Given the description of an element on the screen output the (x, y) to click on. 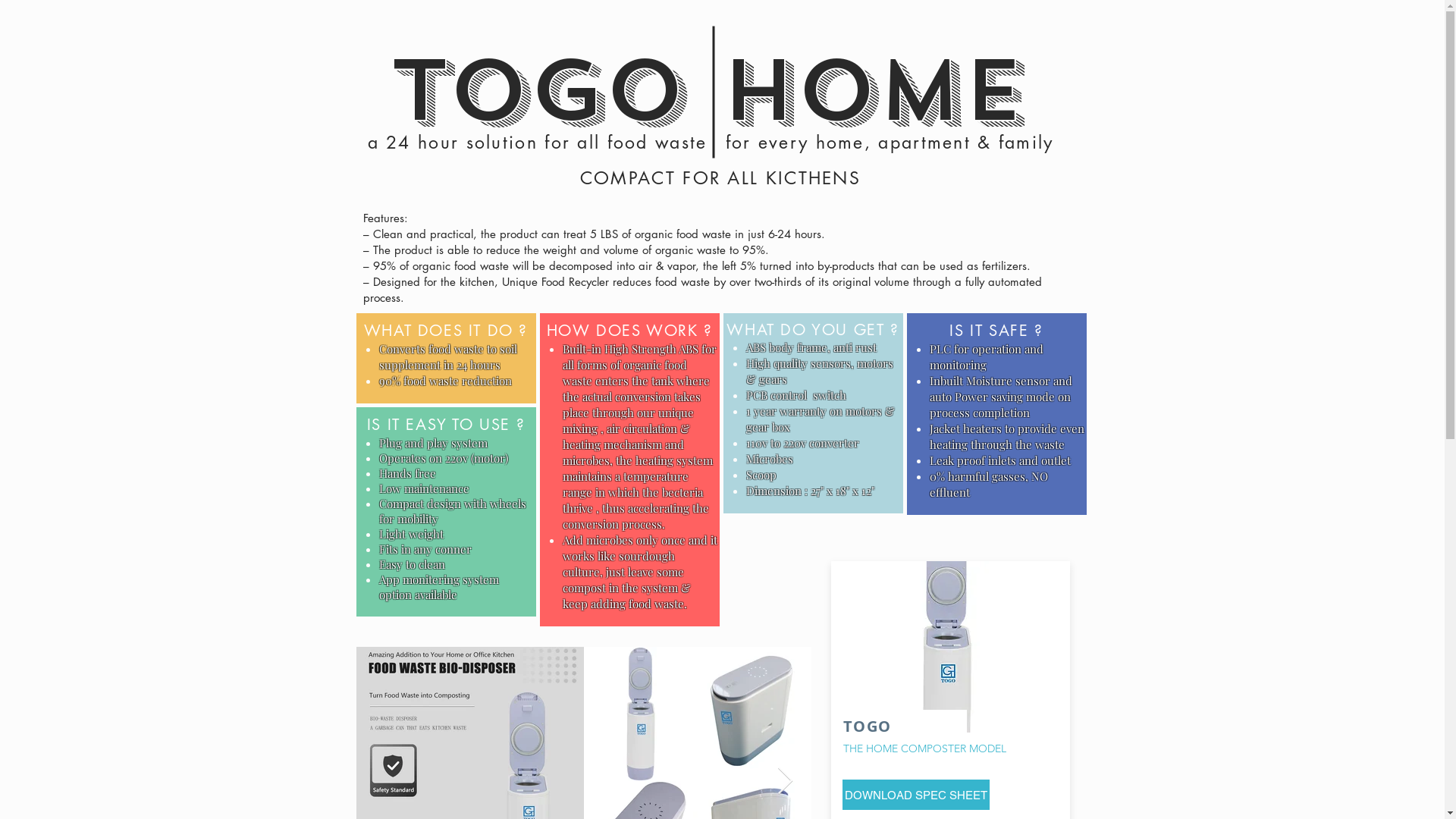
DOWNLOAD SPEC SHEET Element type: text (914, 794)
